Given the description of an element on the screen output the (x, y) to click on. 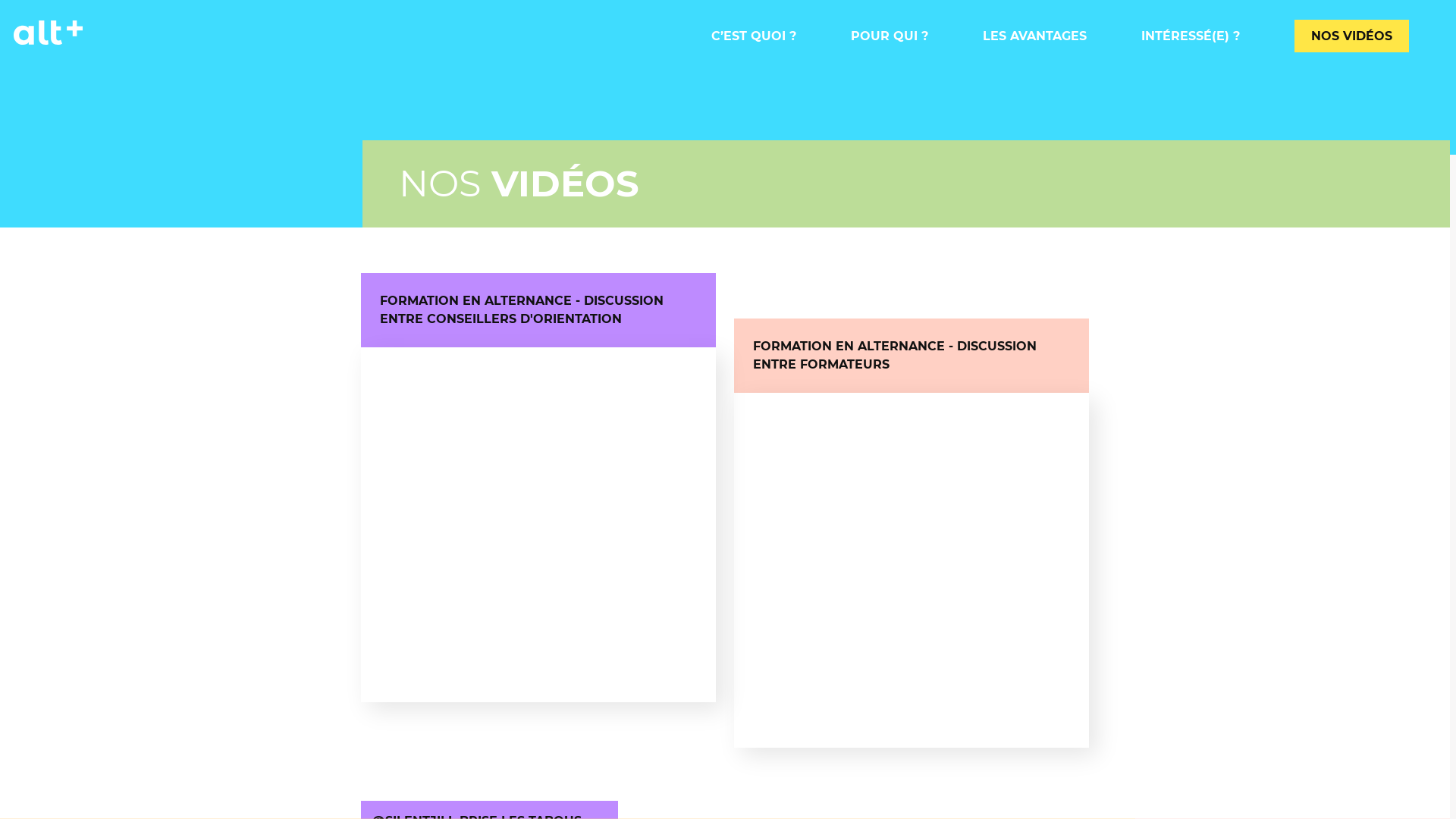
POUR QUI ? Element type: text (889, 35)
LES AVANTAGES Element type: text (1034, 35)
YouTube video player Element type: hover (911, 569)
YouTube video player Element type: hover (537, 524)
